Given the description of an element on the screen output the (x, y) to click on. 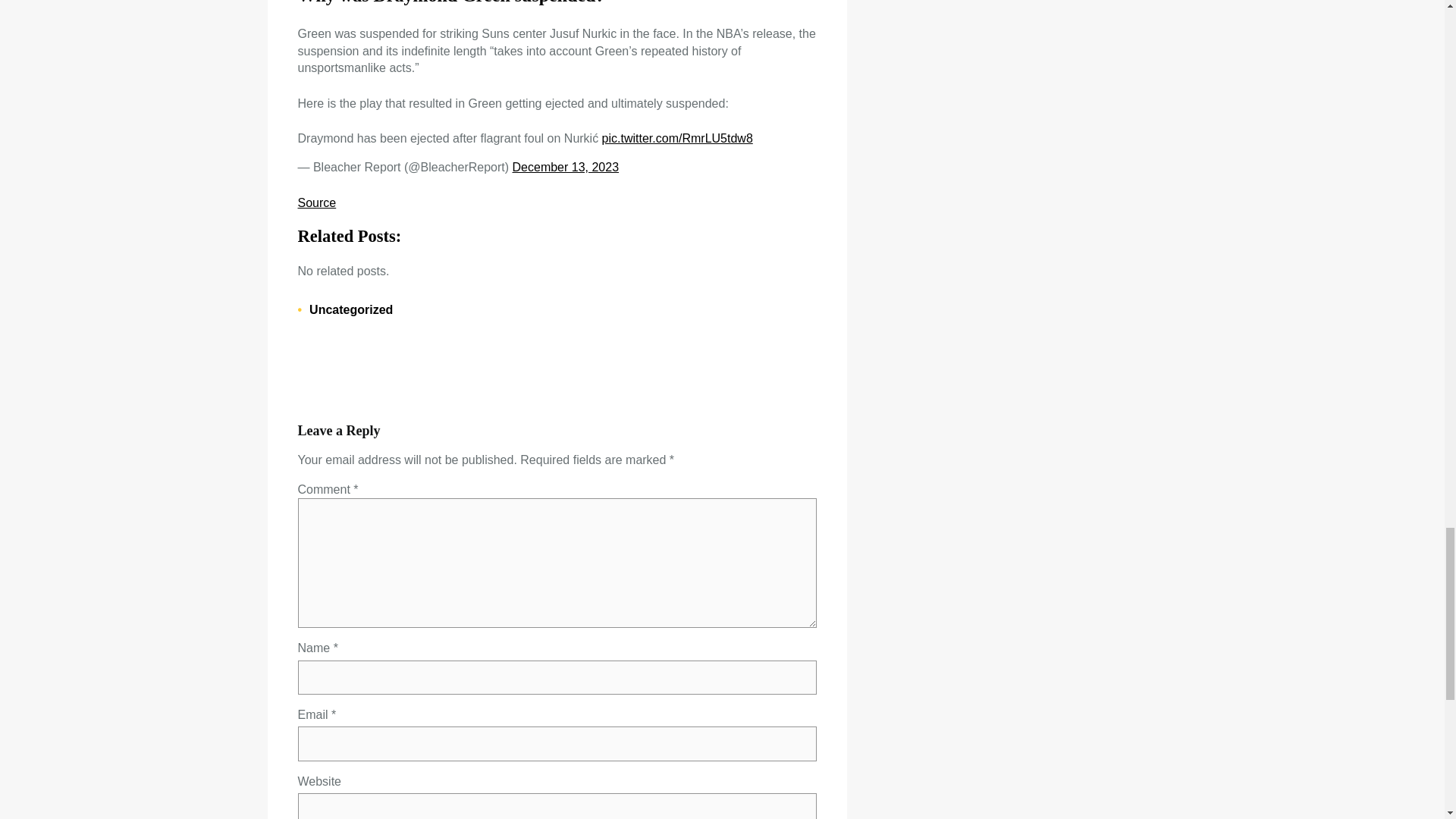
Uncategorized (350, 309)
Source (316, 202)
December 13, 2023 (566, 166)
